Given the description of an element on the screen output the (x, y) to click on. 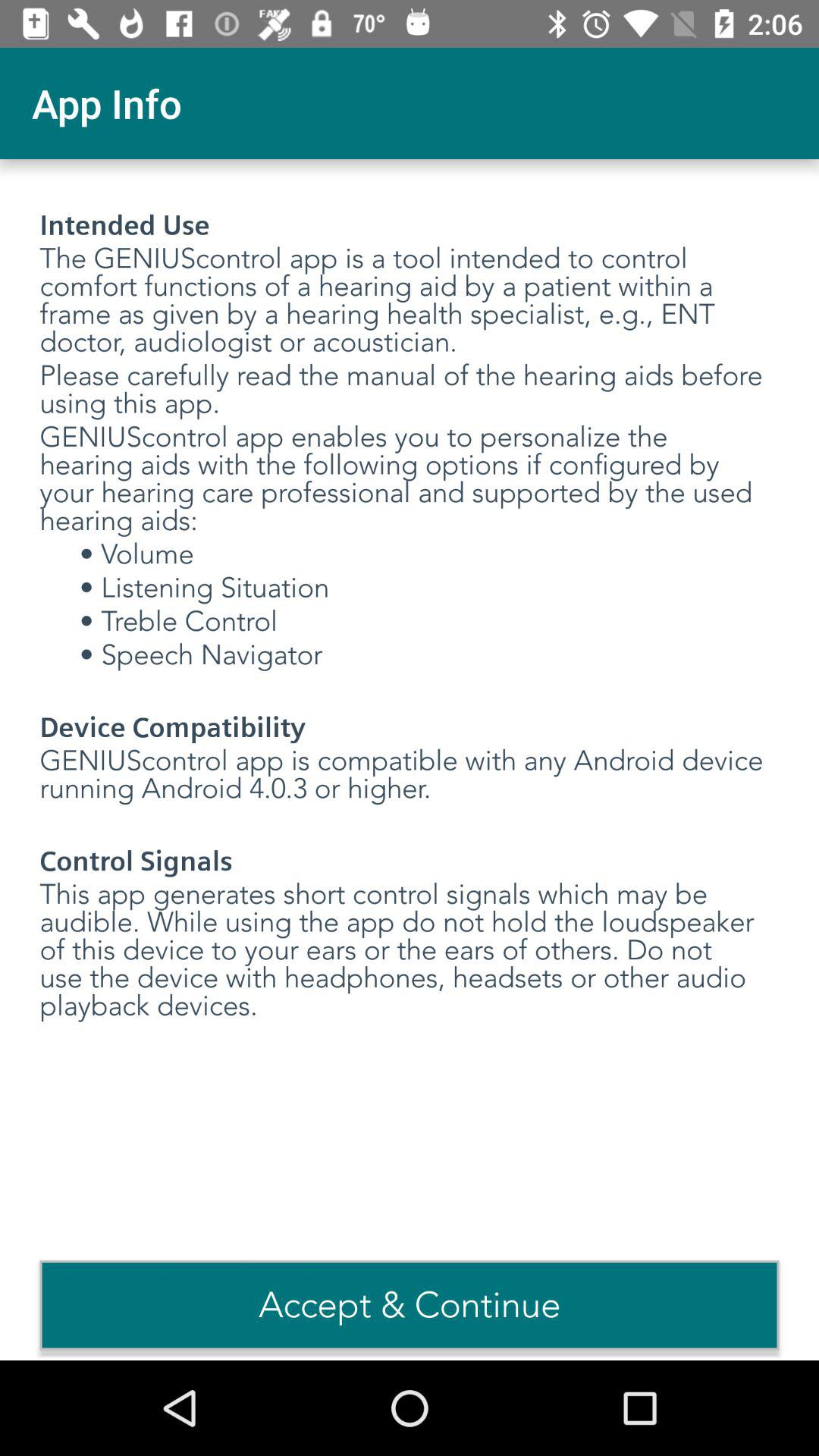
tap the icon below this app generates (409, 1305)
